Given the description of an element on the screen output the (x, y) to click on. 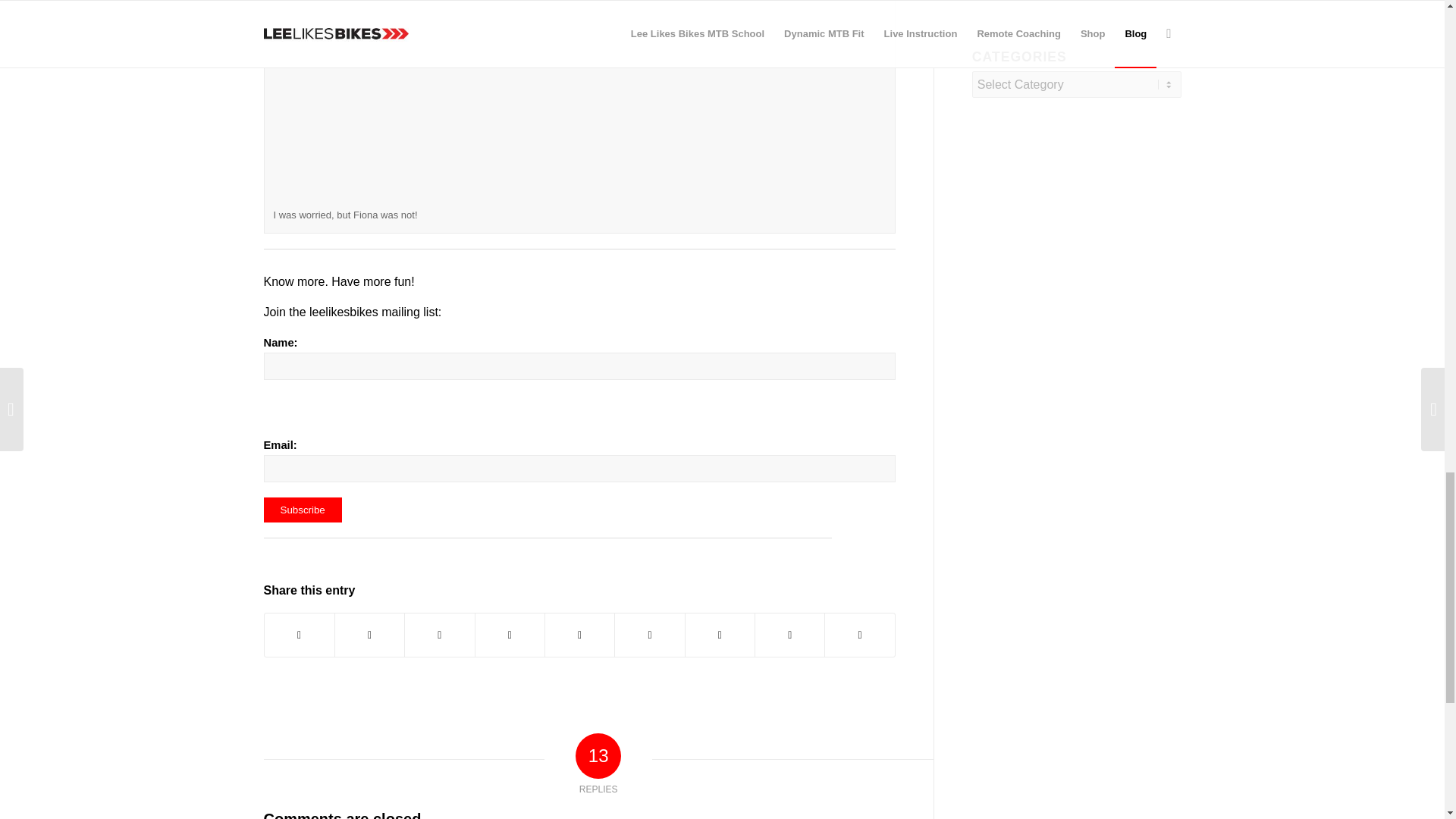
Subscribe (302, 509)
Subscribe (302, 509)
